Given the description of an element on the screen output the (x, y) to click on. 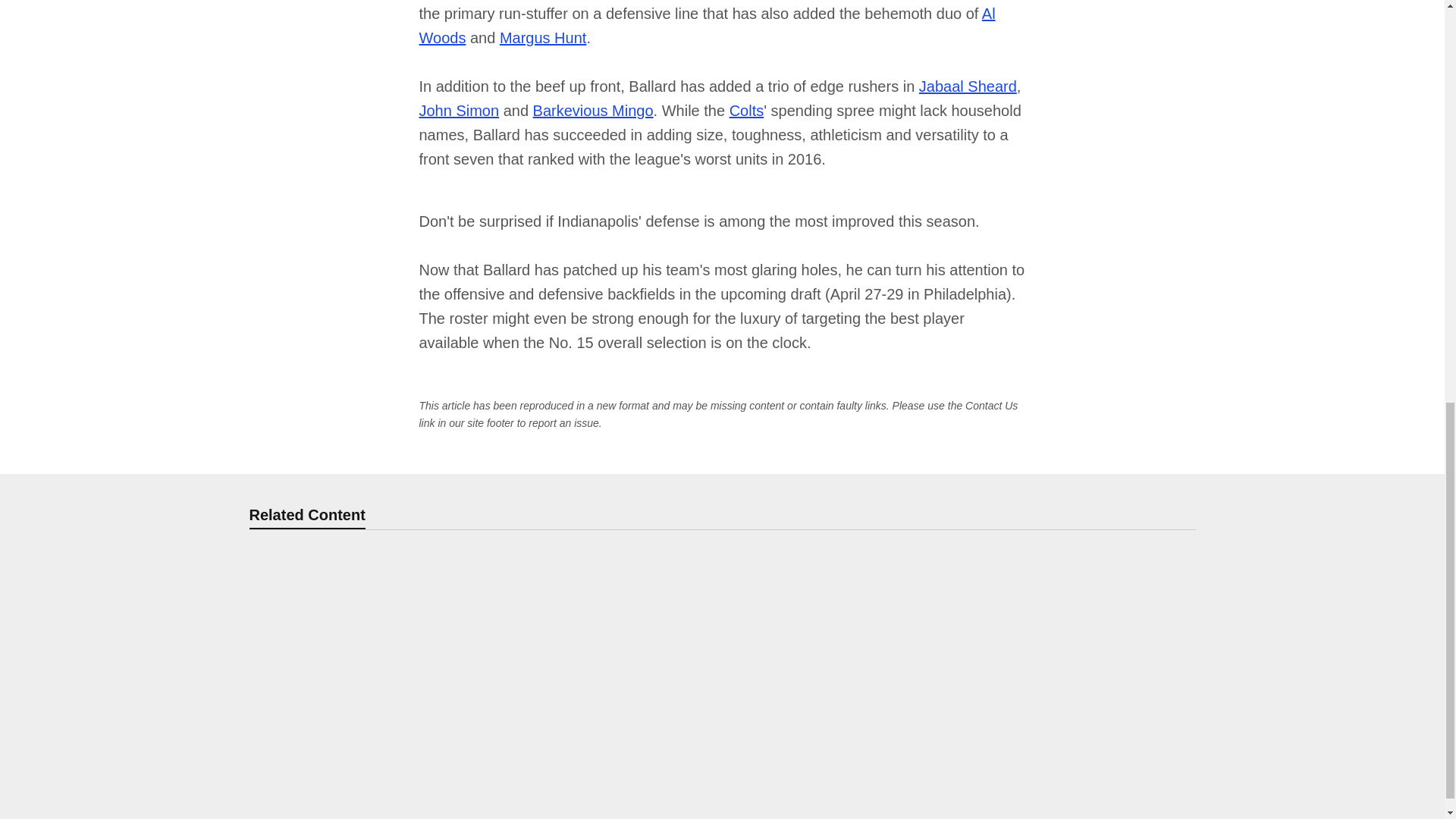
Barkevious Mingo (592, 110)
Al Woods (706, 24)
Jabaal Sheard (967, 86)
Margus Hunt (542, 37)
Colts (746, 110)
John Simon (459, 110)
